Given the description of an element on the screen output the (x, y) to click on. 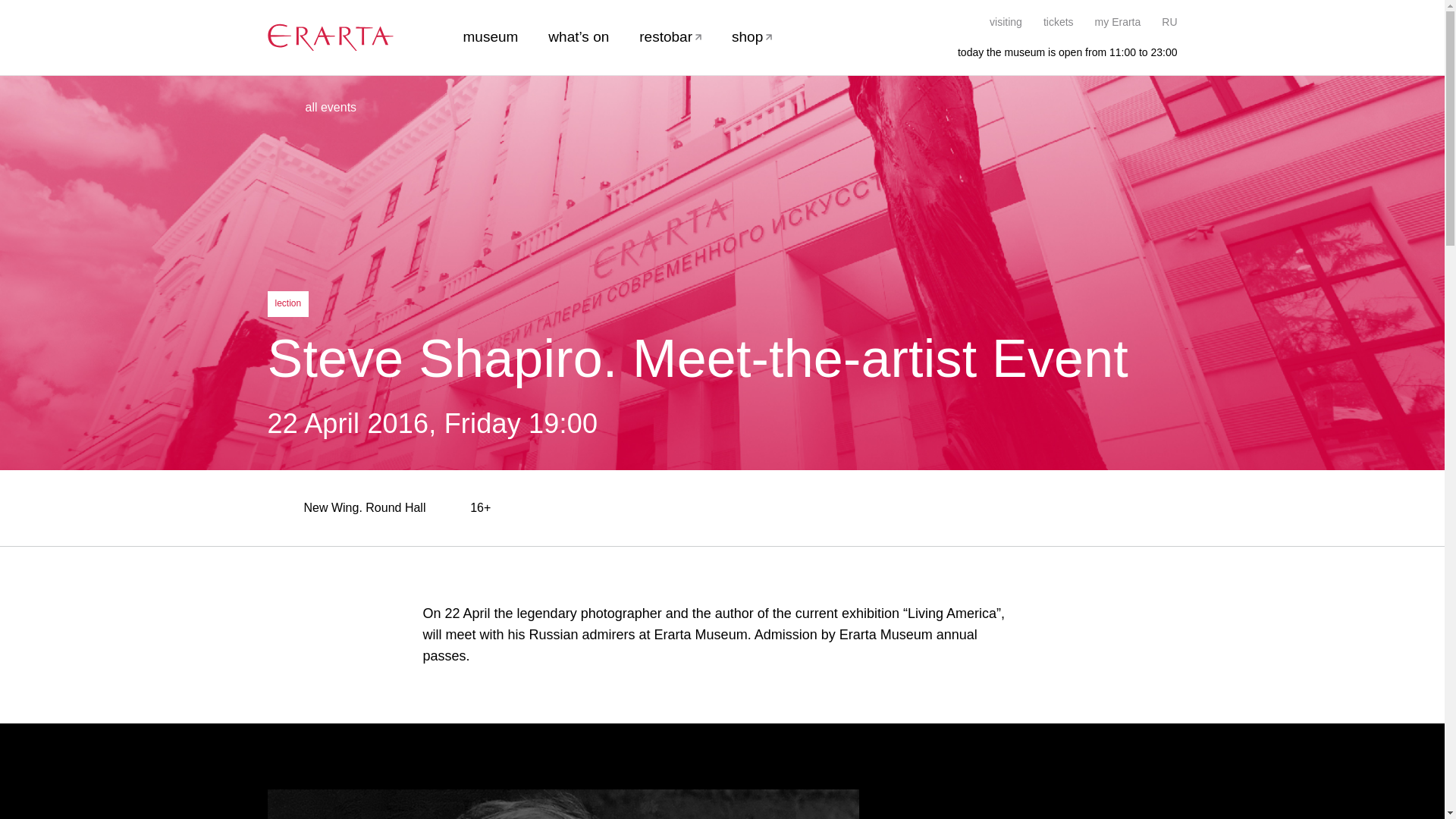
restobar (670, 36)
my Erarta (1117, 21)
shop (751, 36)
tickets (1058, 21)
visiting (1006, 21)
today the museum is open from 11:00 to 23:00 (1058, 51)
all events (311, 108)
museum (490, 36)
RU (1168, 21)
